Given the description of an element on the screen output the (x, y) to click on. 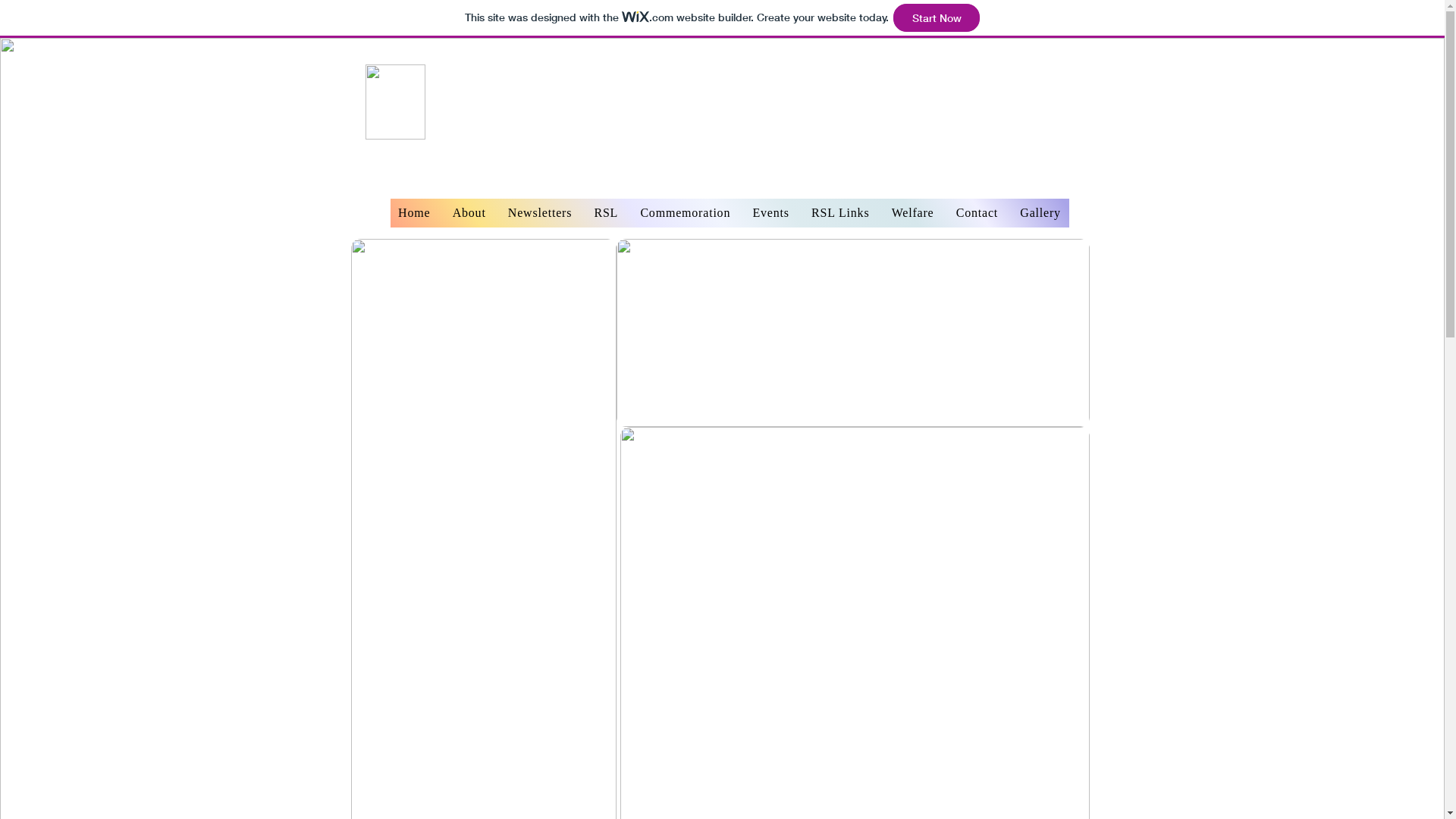
RSL Element type: text (606, 212)
RSL LOGO.jpg Element type: hover (395, 101)
Home Element type: text (413, 212)
Newsletters Element type: text (539, 212)
